Given the description of an element on the screen output the (x, y) to click on. 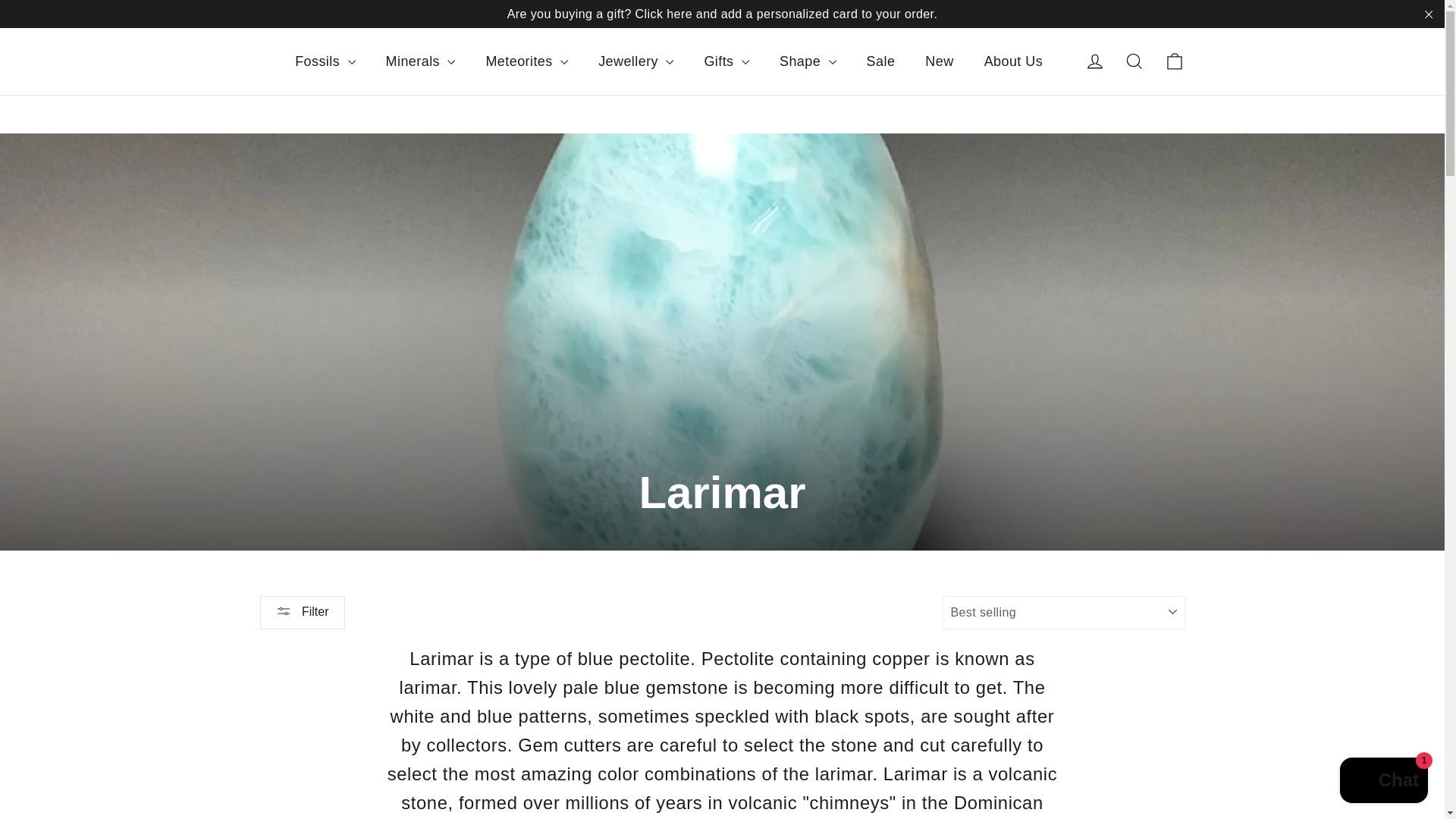
Shopify online store chat (1383, 781)
